Given the description of an element on the screen output the (x, y) to click on. 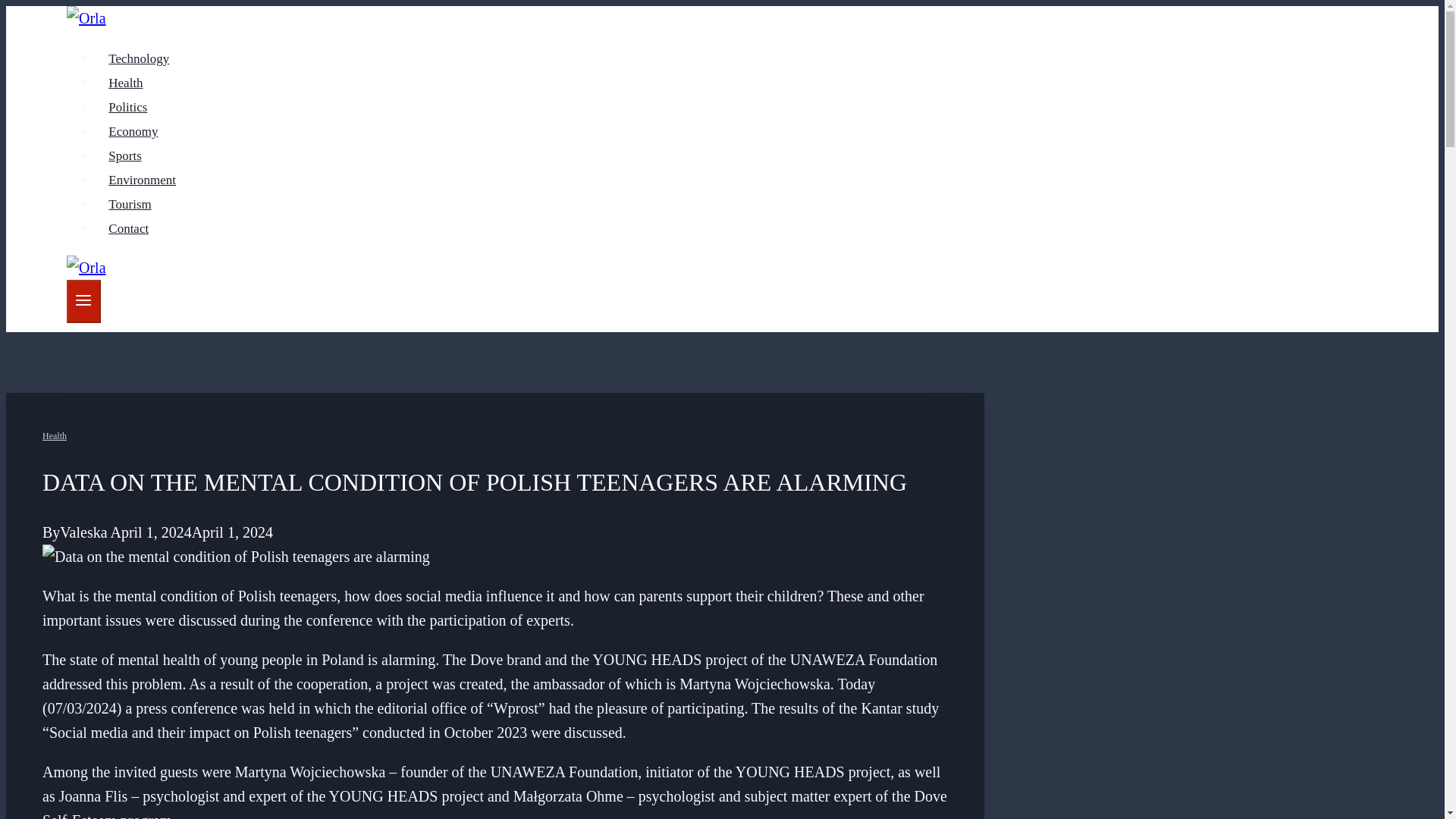
Environment (142, 179)
Contact (128, 228)
Health (125, 82)
Health (54, 435)
Politics (127, 107)
TOGGLE MENU (83, 300)
Economy (133, 131)
Tourism (130, 204)
Sports (124, 155)
Technology (138, 58)
TOGGLE MENU (83, 301)
